Given the description of an element on the screen output the (x, y) to click on. 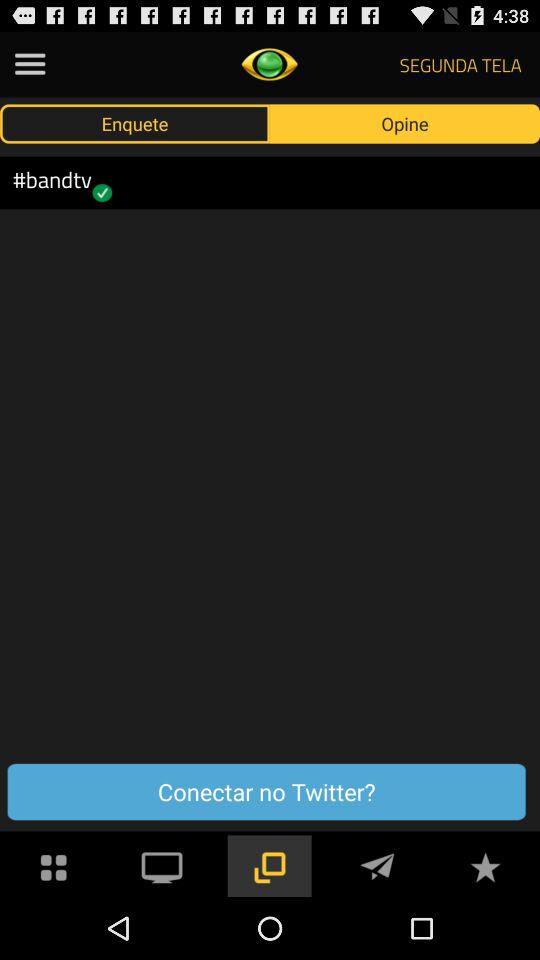
jump until conectar no twitter? item (266, 791)
